Given the description of an element on the screen output the (x, y) to click on. 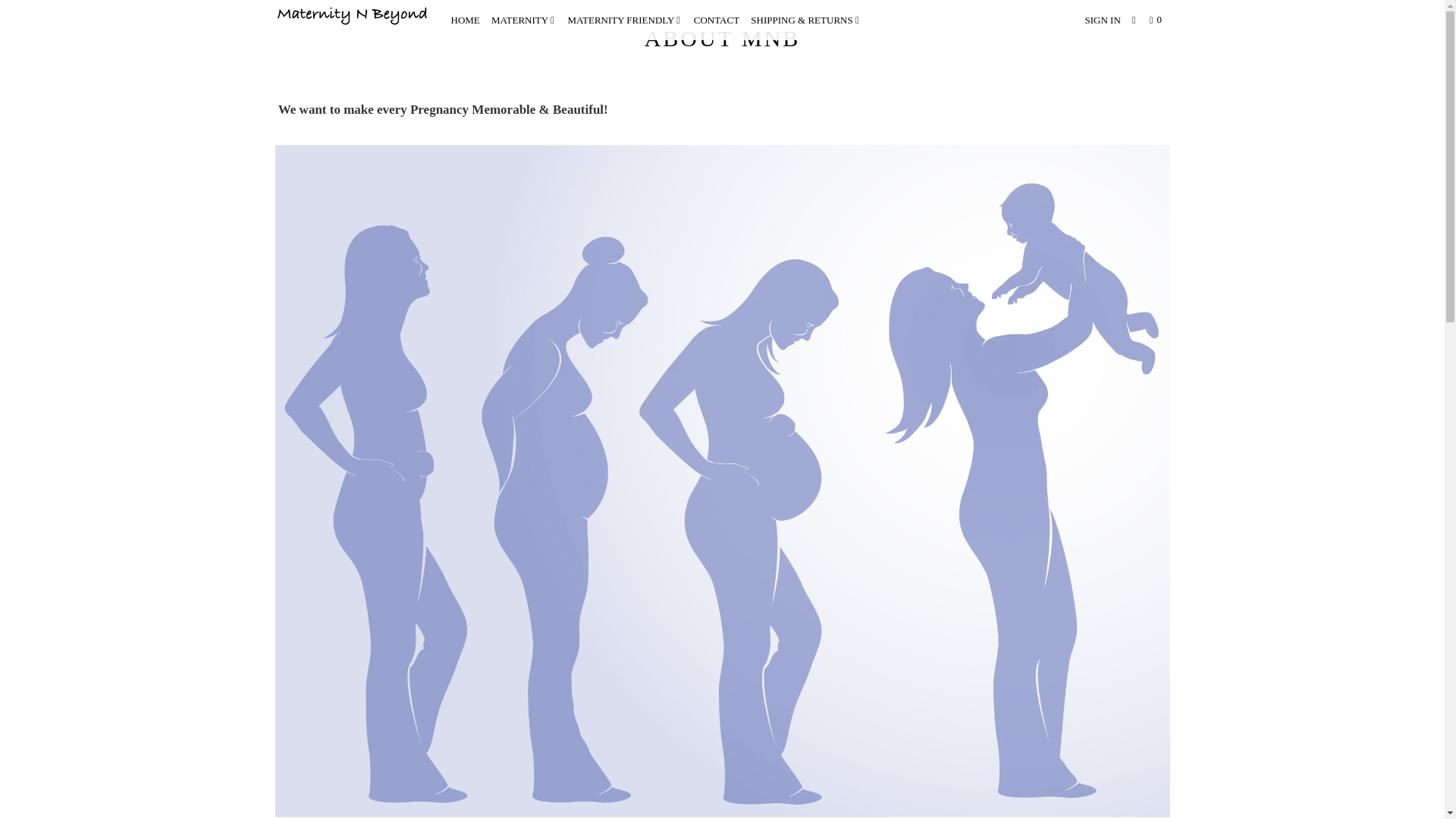
SIGN IN (1101, 19)
HOME (463, 19)
My Account  (1101, 19)
Maternity N Beyond (352, 17)
MATERNITY (523, 19)
